Given the description of an element on the screen output the (x, y) to click on. 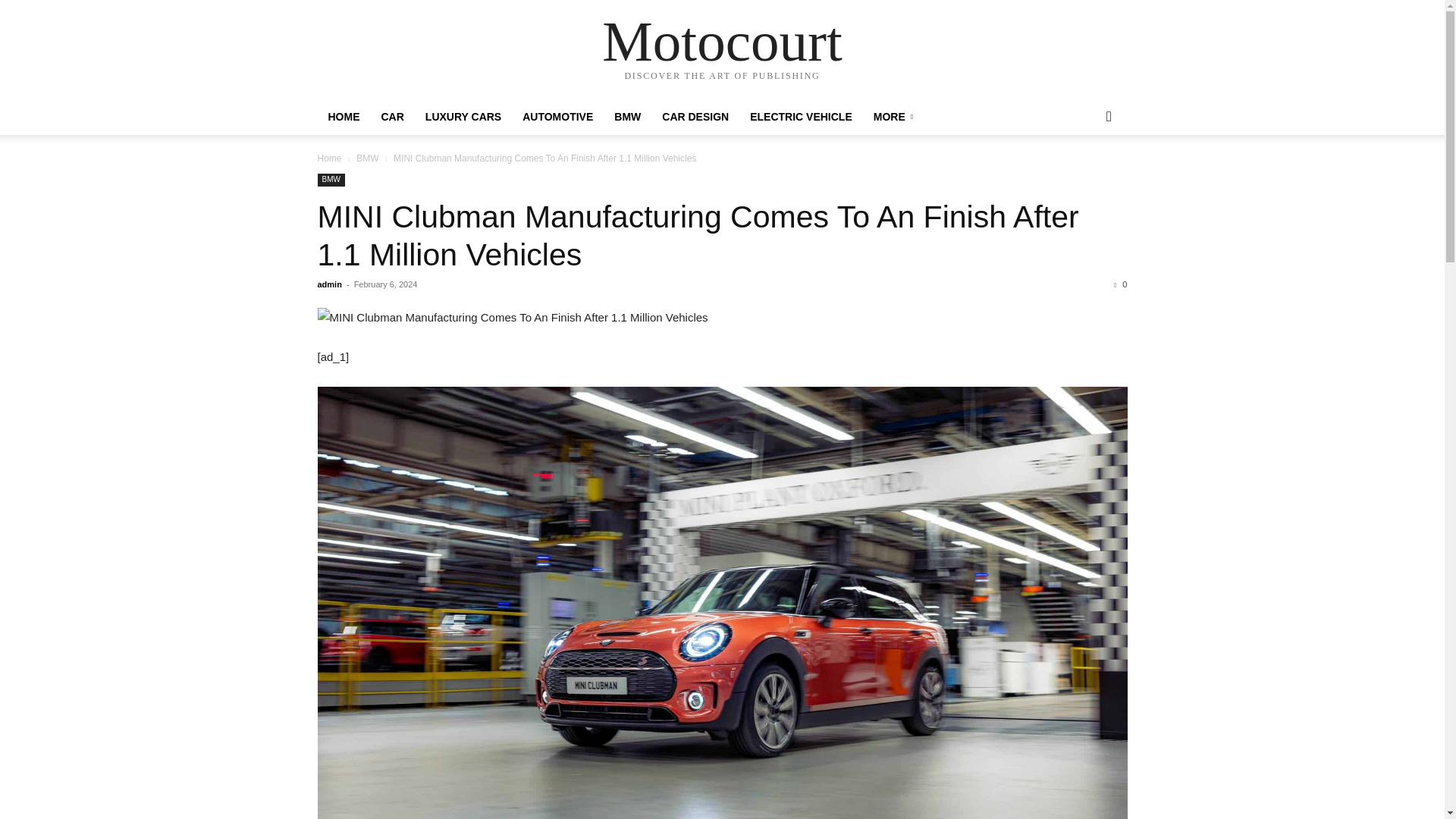
CAR (391, 116)
ELECTRIC VEHICLE (801, 116)
View all posts in BMW (367, 158)
Search (1085, 177)
LUXURY CARS (463, 116)
HOME (343, 116)
BMW (367, 158)
0 (1119, 284)
MORE (893, 116)
Motocourt (722, 41)
BMW (627, 116)
AUTOMOTIVE (558, 116)
Home (328, 158)
